Given the description of an element on the screen output the (x, y) to click on. 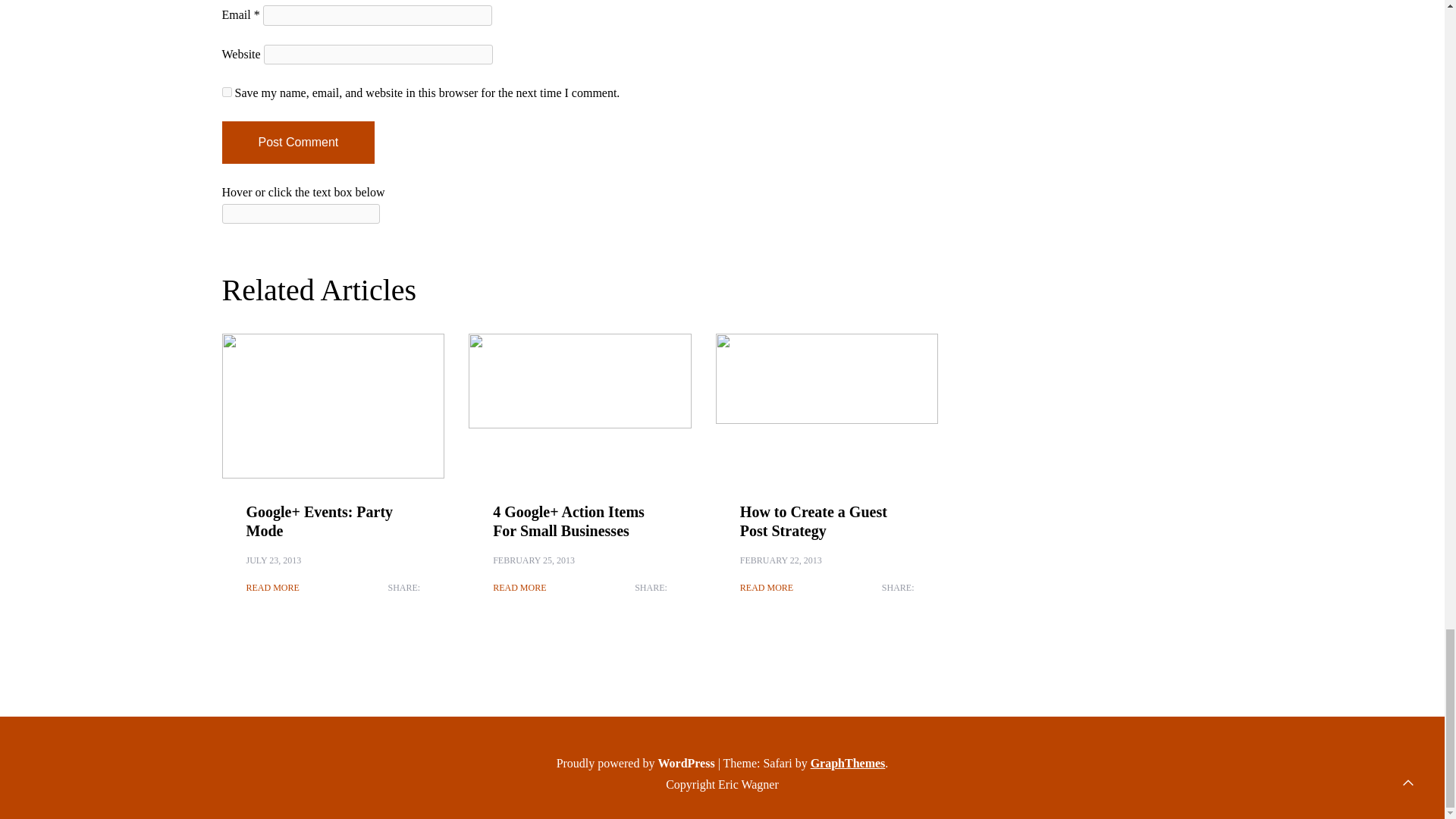
READ MORE (766, 587)
JULY 23, 2013 (273, 560)
How to Create a Guest Post Strategy (812, 520)
FEBRUARY 25, 2013 (534, 560)
Post Comment (297, 142)
yes (226, 91)
READ MORE (272, 587)
Post Comment (297, 142)
FEBRUARY 22, 2013 (780, 560)
READ MORE (519, 587)
